Given the description of an element on the screen output the (x, y) to click on. 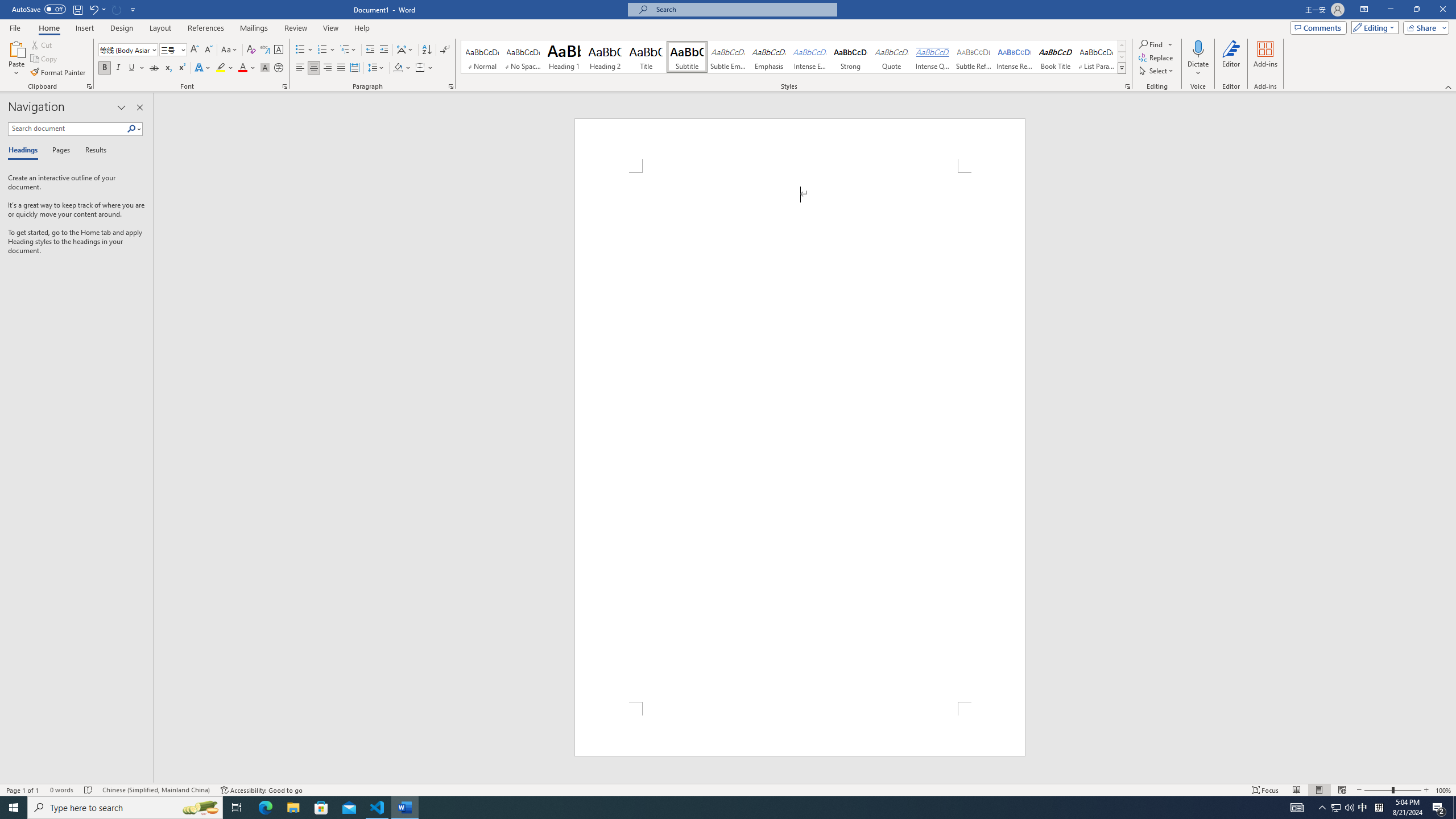
Spelling and Grammar Check No Errors (88, 790)
Subtitle (686, 56)
